Given the description of an element on the screen output the (x, y) to click on. 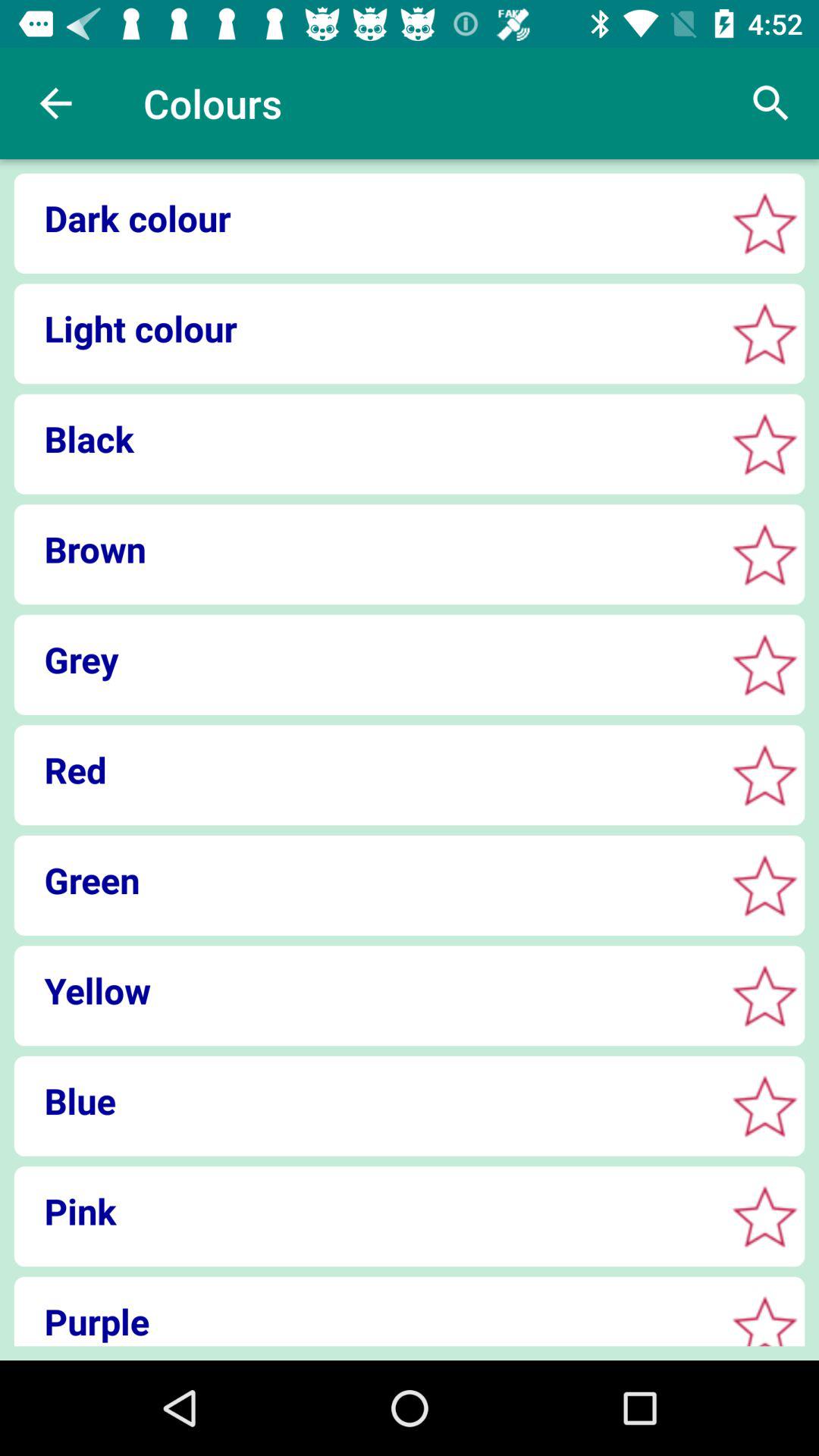
click to like purple (764, 1323)
